Given the description of an element on the screen output the (x, y) to click on. 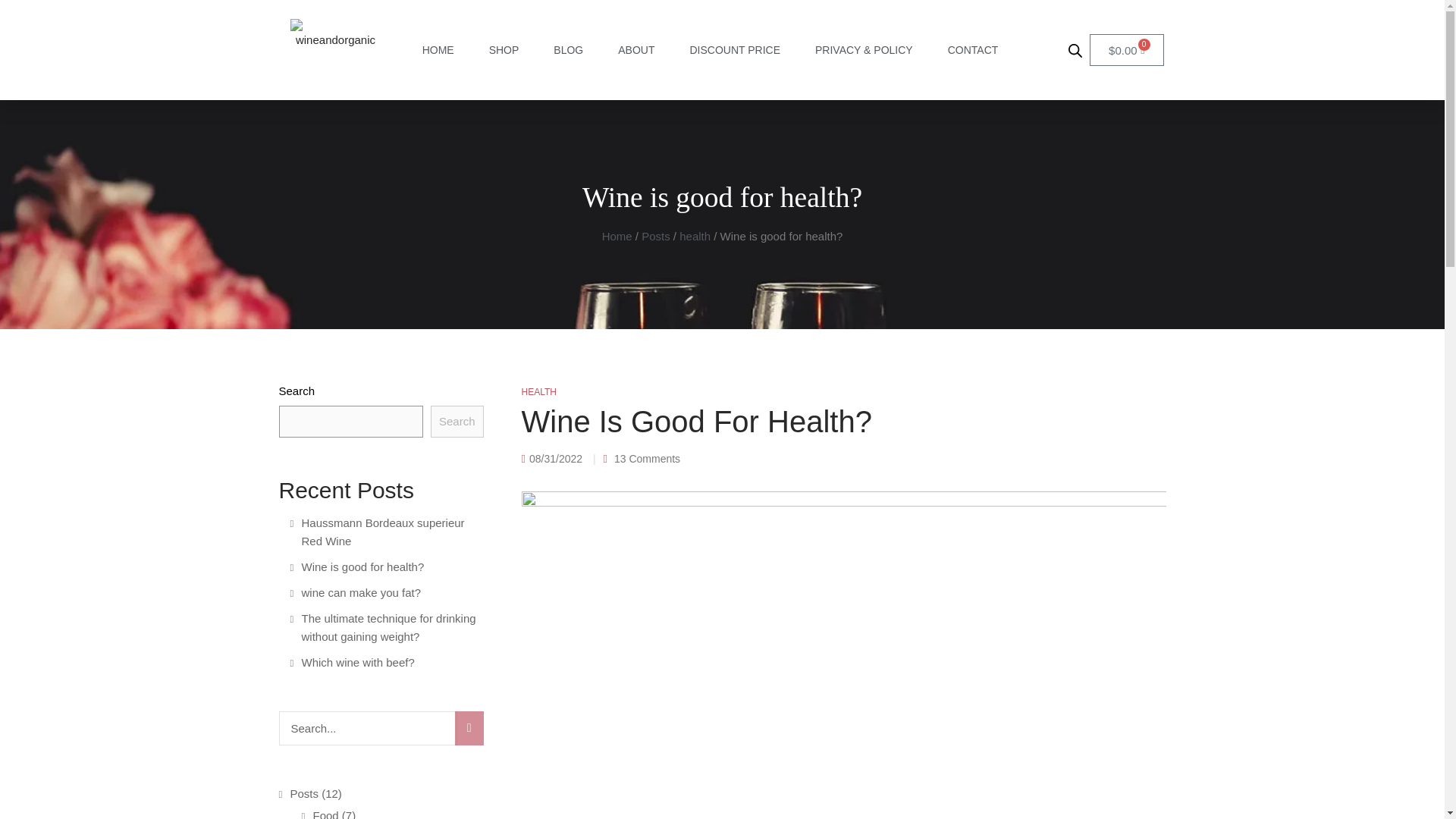
CONTACT (973, 50)
HOME (437, 50)
ABOUT (635, 50)
DISCOUNT PRICE (734, 50)
